Given the description of an element on the screen output the (x, y) to click on. 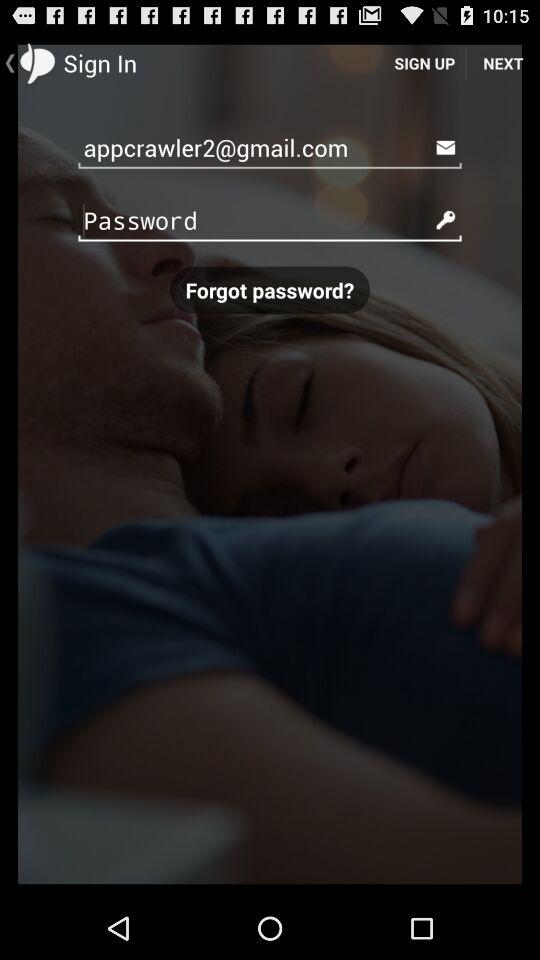
select item next to the sign up (503, 62)
